Given the description of an element on the screen output the (x, y) to click on. 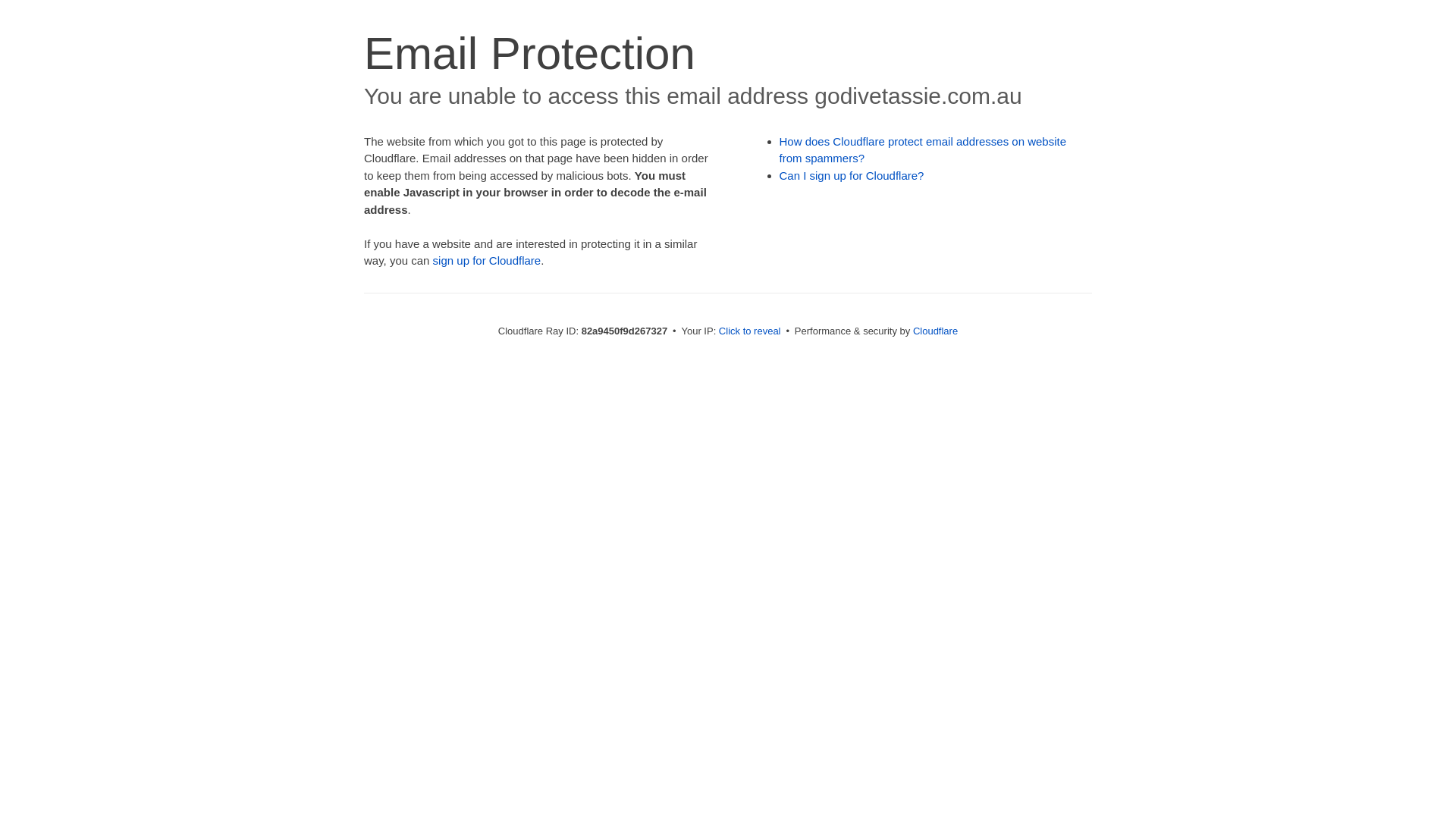
Cloudflare Element type: text (935, 330)
sign up for Cloudflare Element type: text (487, 260)
Click to reveal Element type: text (749, 330)
Can I sign up for Cloudflare? Element type: text (851, 175)
